Given the description of an element on the screen output the (x, y) to click on. 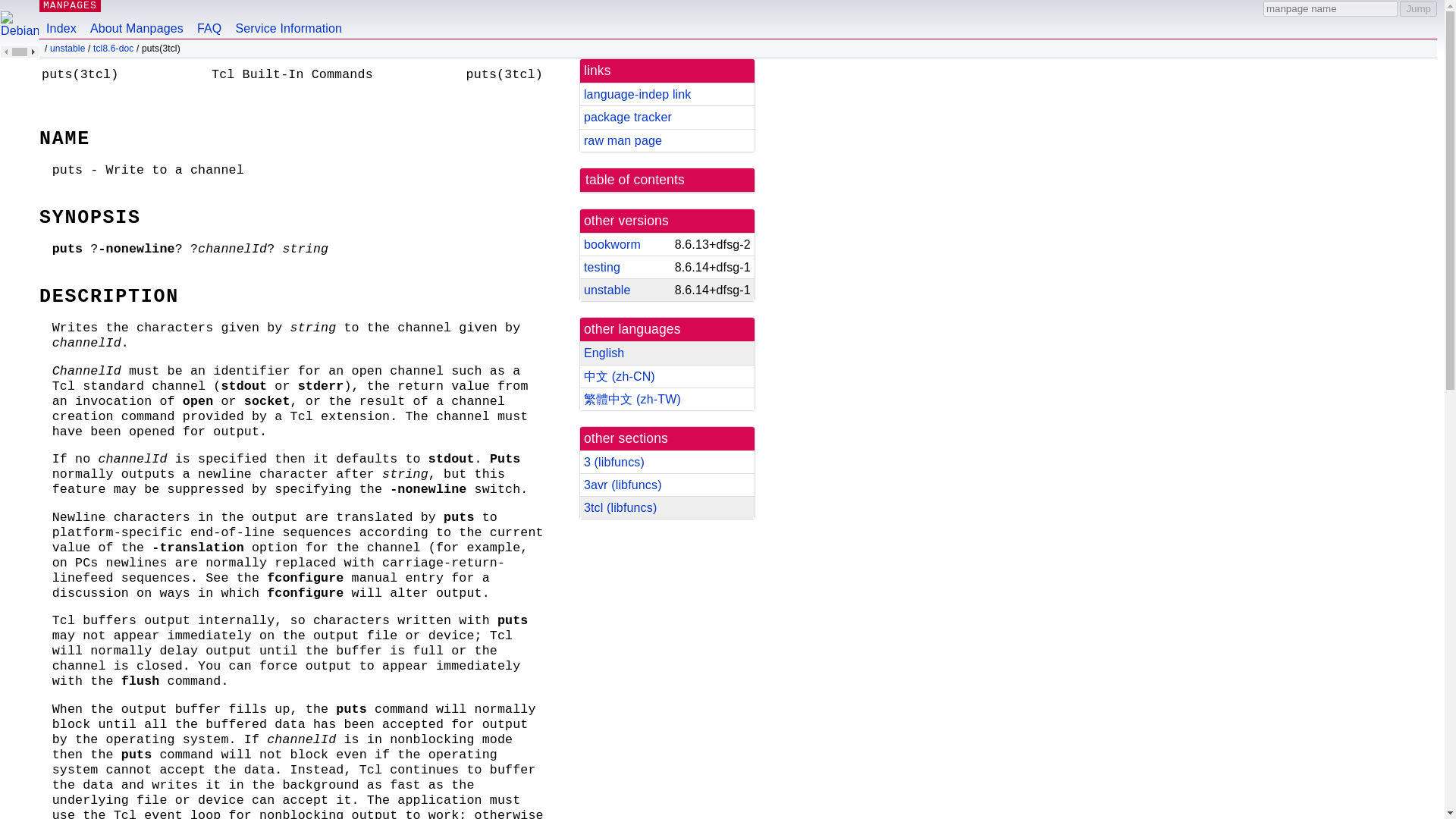
Jump (1418, 8)
package tracker (627, 116)
language-indep link (637, 93)
About Manpages (136, 19)
MANPAGES (70, 5)
FAQ (209, 19)
English (603, 352)
raw man page (622, 140)
Debian Home (20, 30)
Index (60, 19)
tcl8.6-doc (113, 48)
unstable (67, 48)
Service Information (288, 19)
unstable (606, 289)
testing (601, 267)
